Given the description of an element on the screen output the (x, y) to click on. 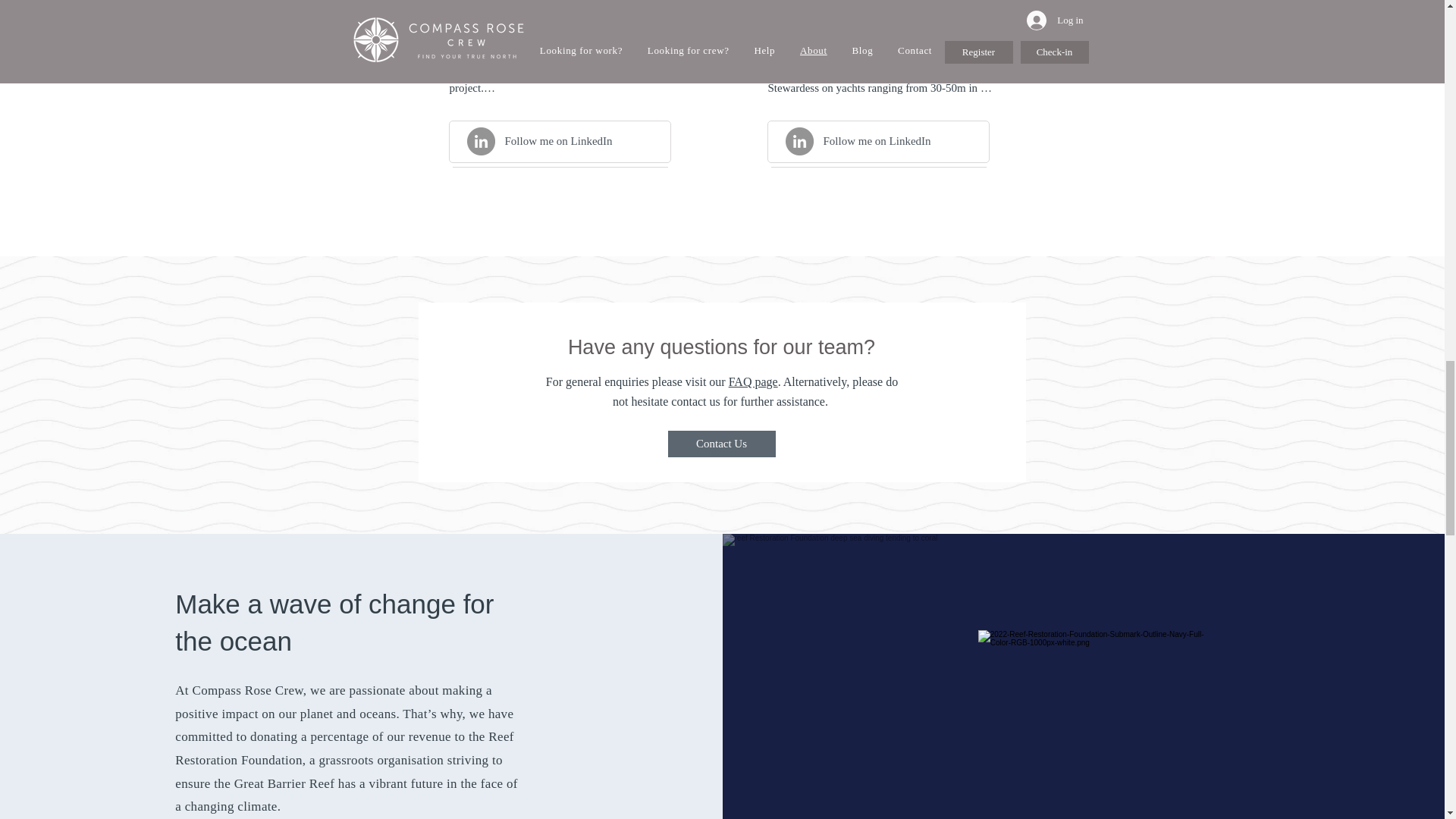
Follow me on LinkedIn (877, 141)
Contact Us (720, 443)
Follow me on LinkedIn (558, 141)
FAQ page (753, 381)
Reef Restoration Foundation logo (1092, 724)
